Given the description of an element on the screen output the (x, y) to click on. 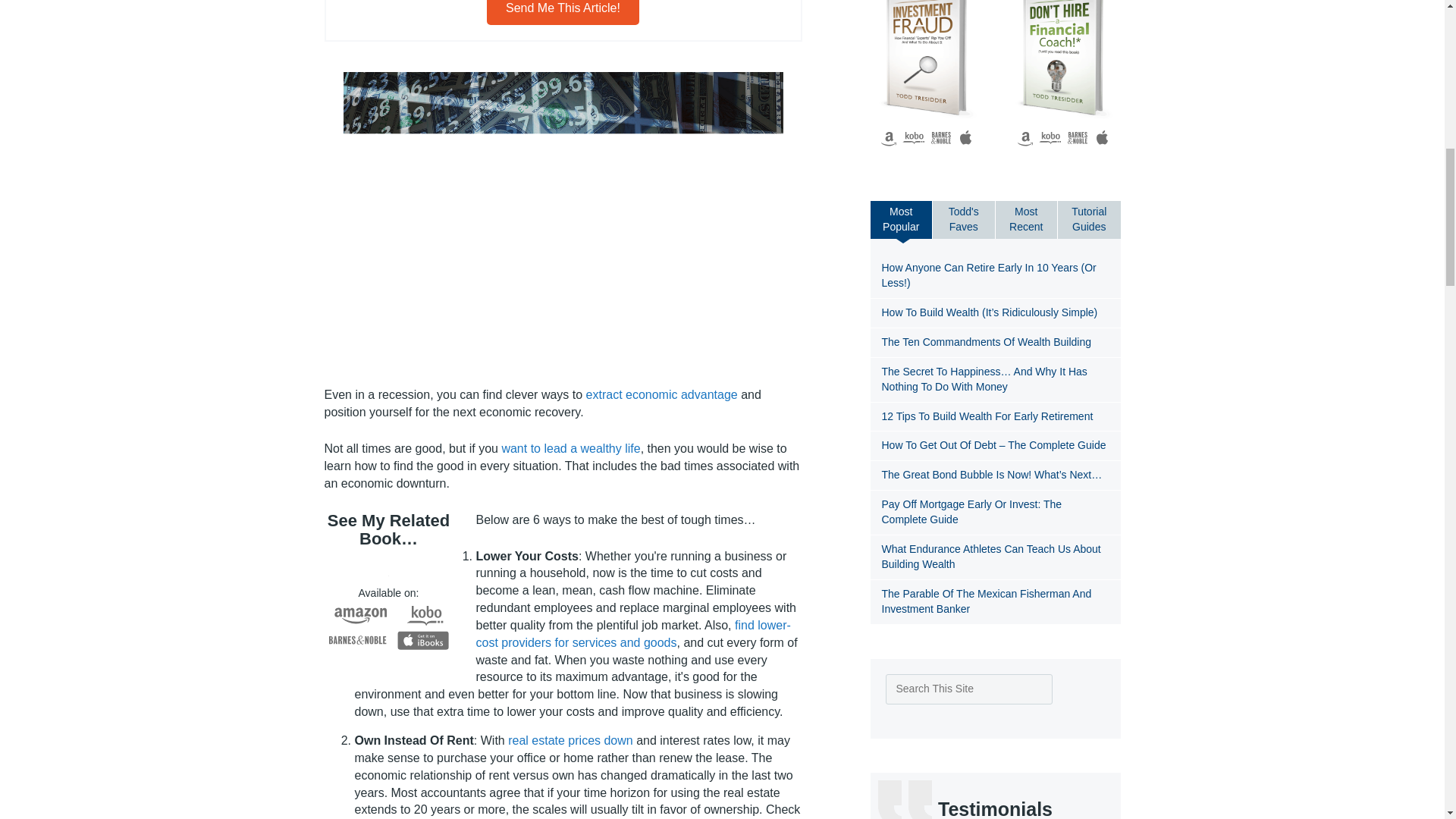
find lower-cost providers for services and goods (633, 634)
extract economic advantage (662, 394)
Amazon (360, 615)
Send Me This Article! (562, 12)
Kobo (426, 616)
iBooks (422, 640)
want to lead a wealthy life (570, 448)
real estate prices down (570, 739)
Economic Downturn (562, 220)
